Given the description of an element on the screen output the (x, y) to click on. 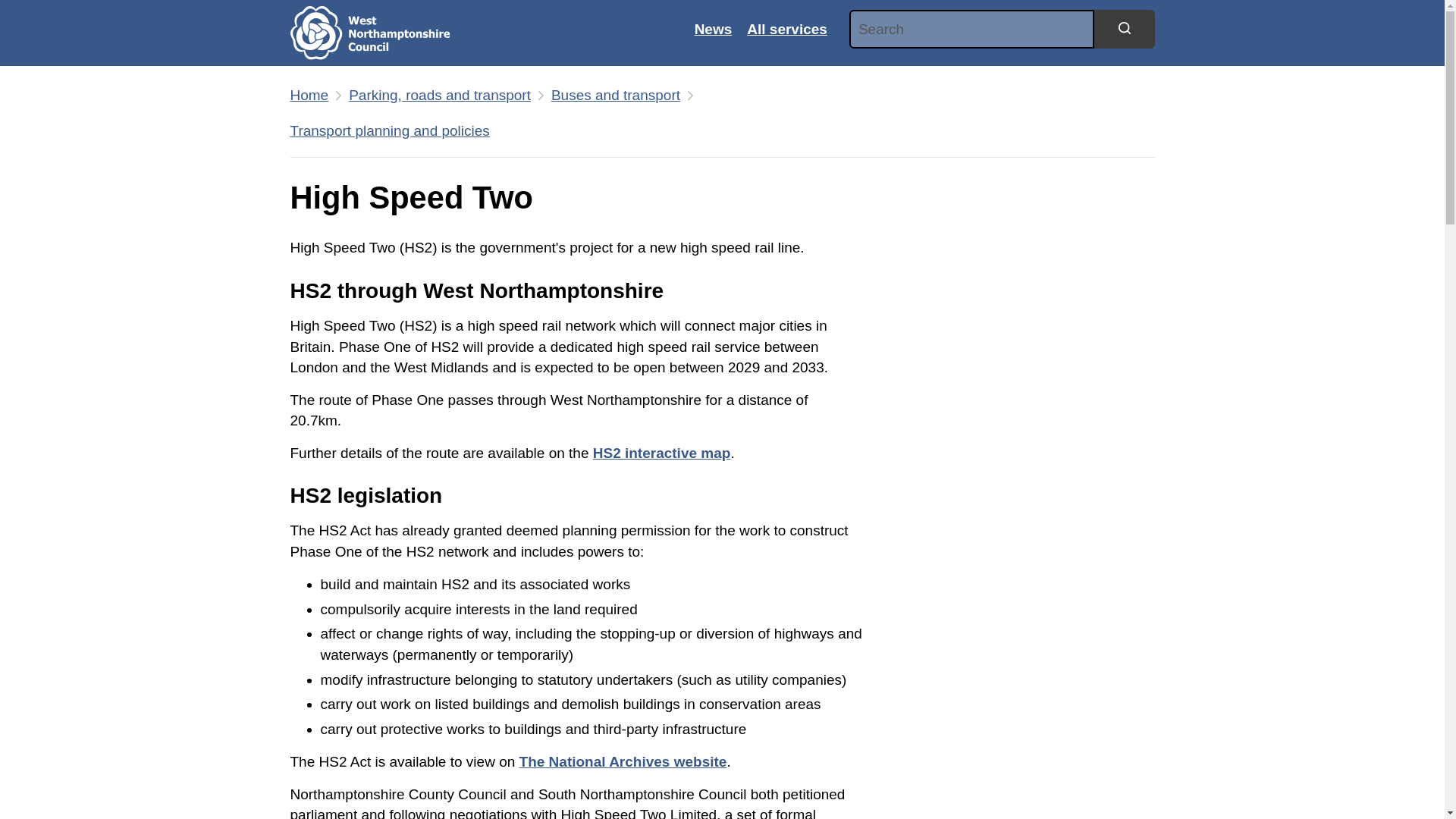
All services (786, 29)
Home (309, 94)
Transport planning and policies (389, 131)
Parking, roads and transport (440, 94)
Skip to main content (11, 7)
Home (380, 32)
Search (1123, 28)
Transport planning and policies (389, 131)
Buses and transport (615, 94)
HS2 interactive map (661, 453)
The National Archives website (622, 761)
Home (309, 94)
Parking, roads and transport (440, 94)
News (713, 29)
Buses and transport (615, 94)
